Given the description of an element on the screen output the (x, y) to click on. 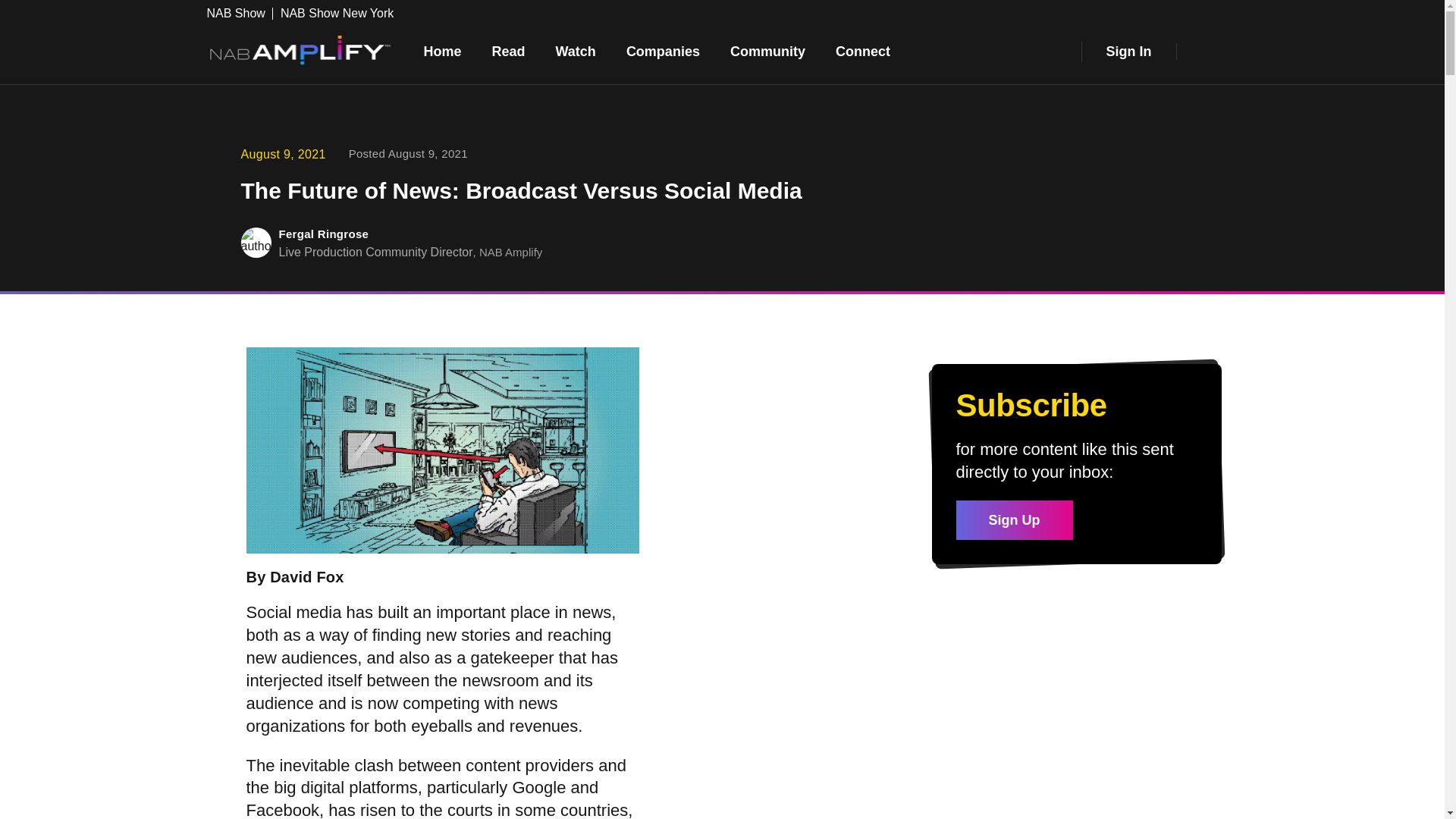
Home (441, 51)
Search (1206, 51)
Community (767, 51)
NAB Show (239, 13)
Companies (662, 51)
NAB Show New York (337, 13)
Watch (575, 51)
Connect (863, 51)
Read (508, 51)
Sign In (1128, 51)
